Given the description of an element on the screen output the (x, y) to click on. 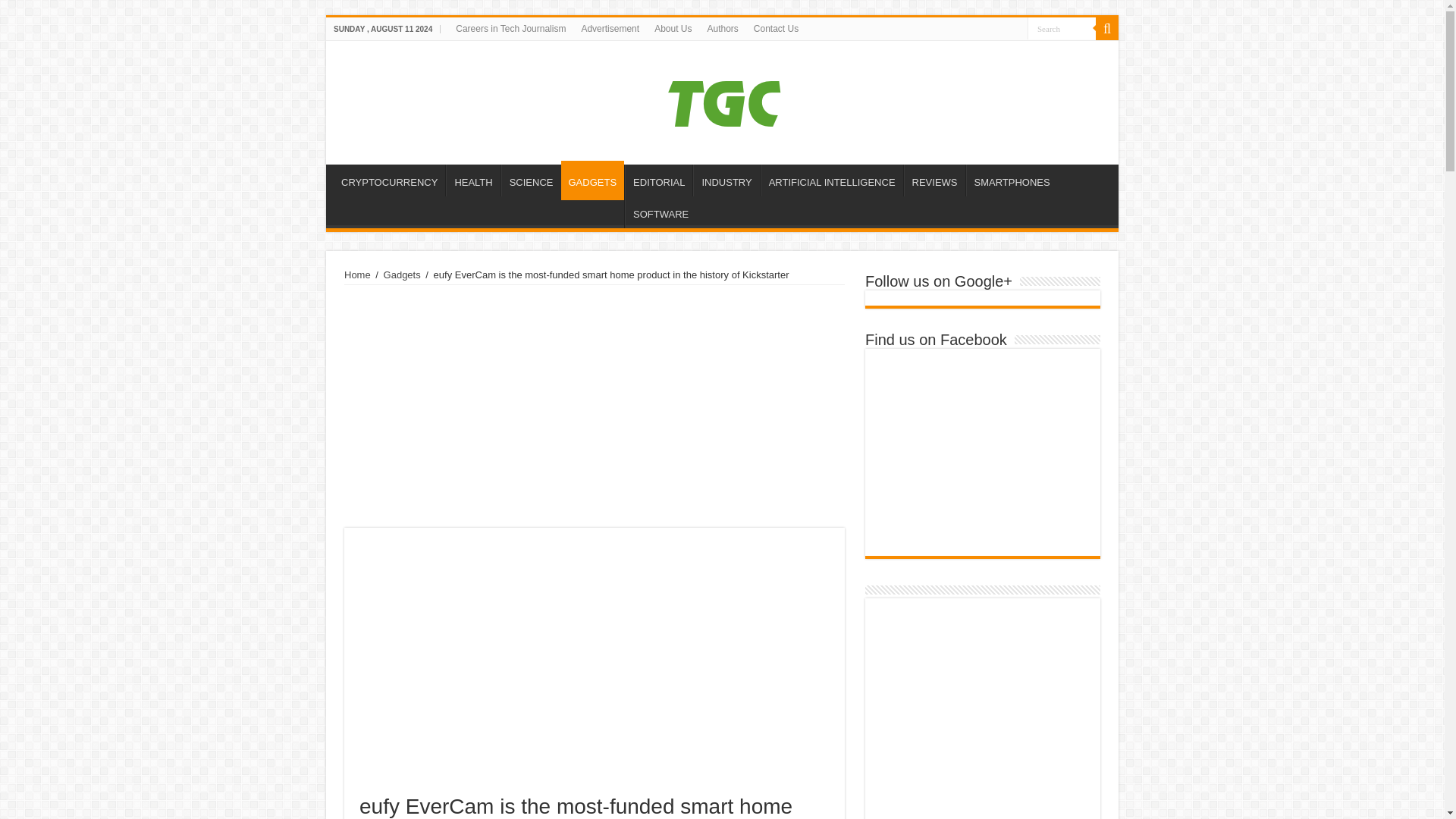
SCIENCE (530, 180)
SMARTPHONES (1012, 180)
SOFTWARE (659, 212)
Gadgets (402, 274)
About Us (672, 28)
Careers in Tech Journalism (510, 28)
Search (1061, 28)
Advertisement (609, 28)
Search (1107, 28)
Authors (721, 28)
